Given the description of an element on the screen output the (x, y) to click on. 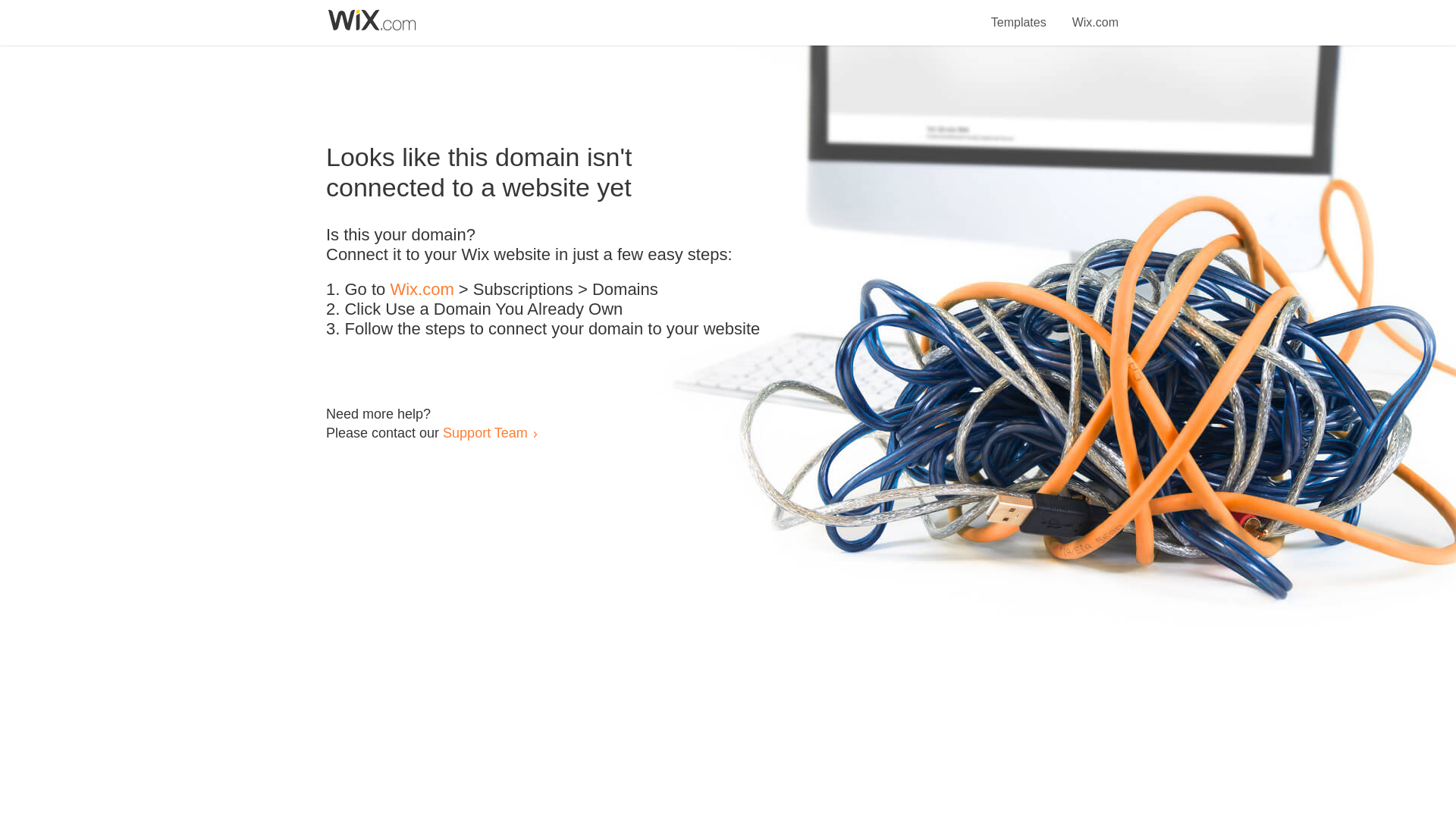
Wix.com (1095, 14)
Support Team (484, 432)
Wix.com (421, 289)
Templates (1018, 14)
